Given the description of an element on the screen output the (x, y) to click on. 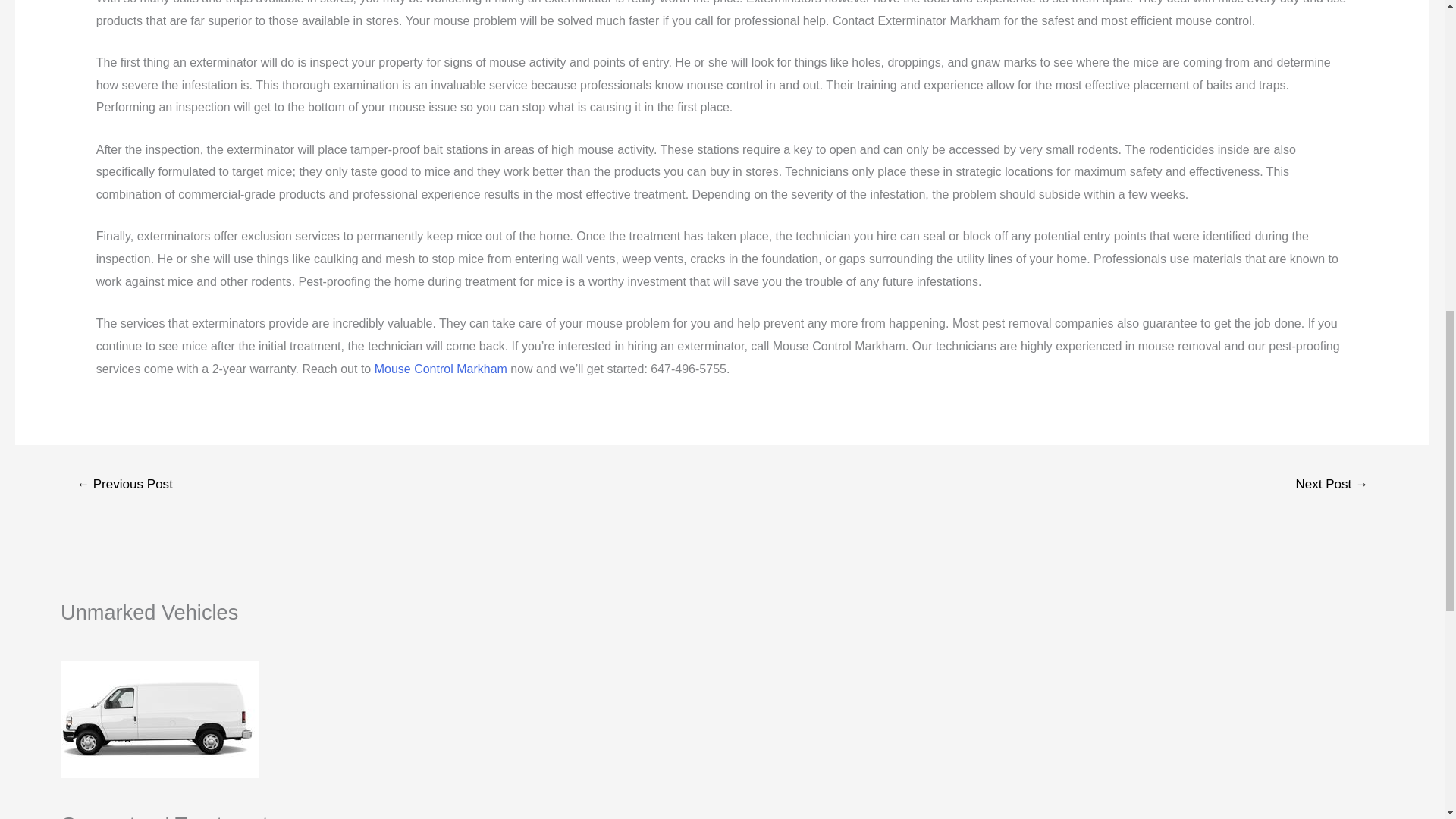
Mouse Control Markham (440, 368)
